Given the description of an element on the screen output the (x, y) to click on. 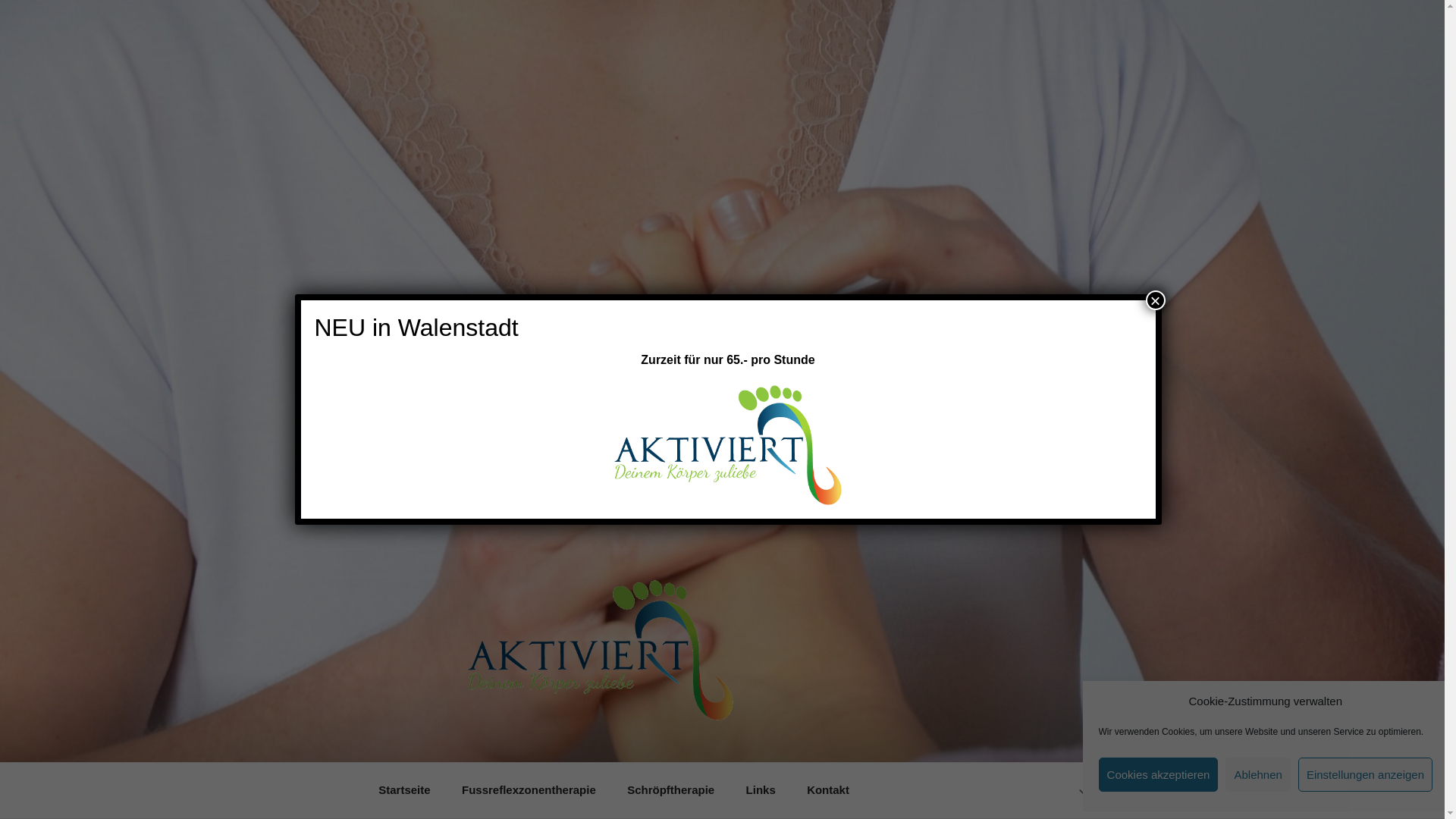
Zum Inhalt nach unten scrollen Element type: text (1083, 787)
Cookies akzeptieren Element type: text (1158, 774)
AKTIVIERT Element type: text (548, 741)
Links Element type: text (760, 790)
Kontakt Element type: text (827, 790)
Startseite Element type: text (404, 790)
Ablehnen Element type: text (1257, 774)
Einstellungen anzeigen Element type: text (1365, 774)
Fussreflexzonentherapie Element type: text (528, 790)
